Given the description of an element on the screen output the (x, y) to click on. 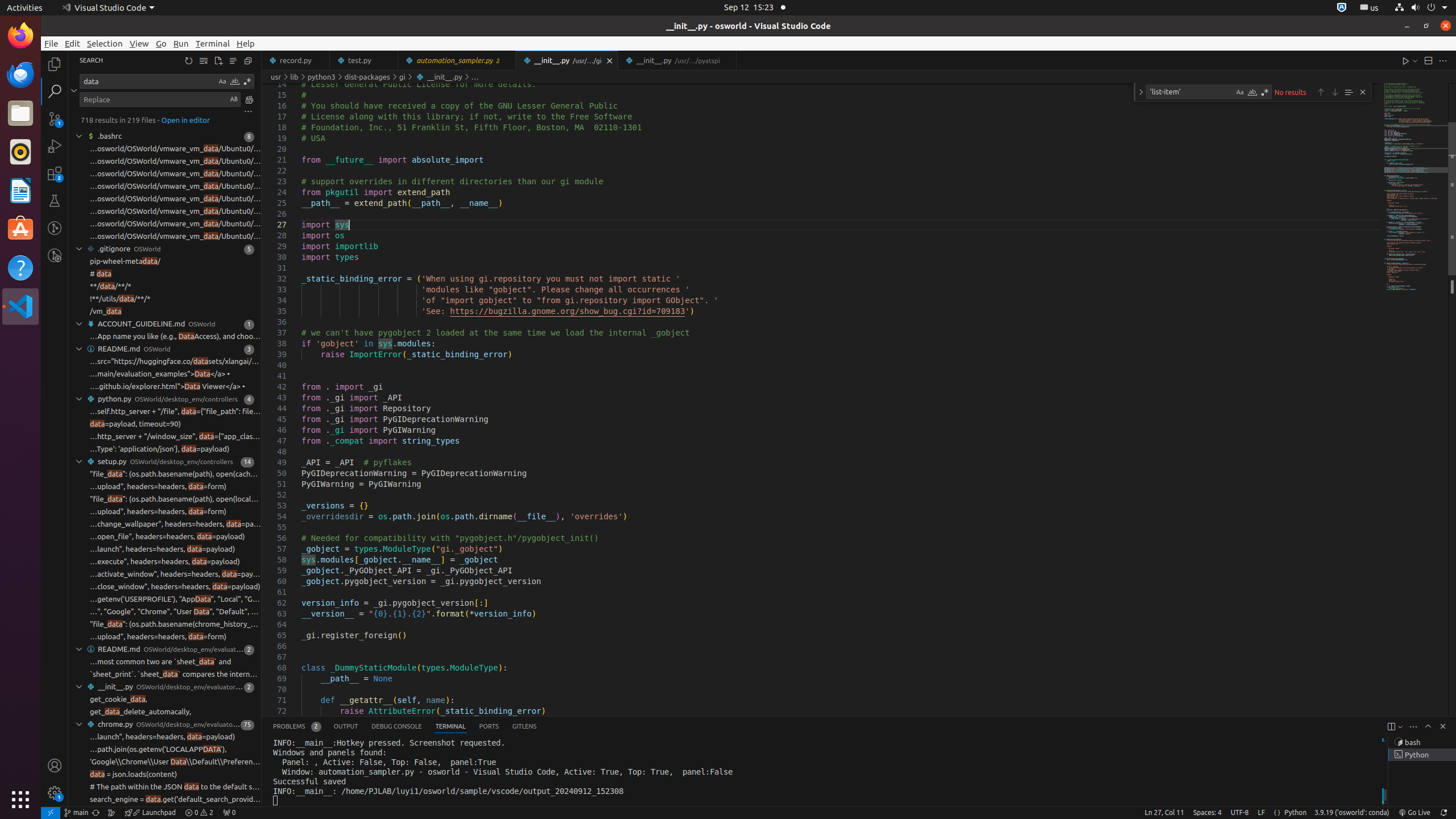
!**/utils/data/**/* Element type: link (119, 298)
5 matches in file .gitignore of folder OSWorld, Search result Element type: tree-item (164, 248)
' response = requests.post(self.http_server + "/setup" + "/launch", headers=headers, data=payload)' at column 96 found data Element type: tree-item (164, 548)
Views and More Actions... Element type: push-button (1413, 726)
